Given the description of an element on the screen output the (x, y) to click on. 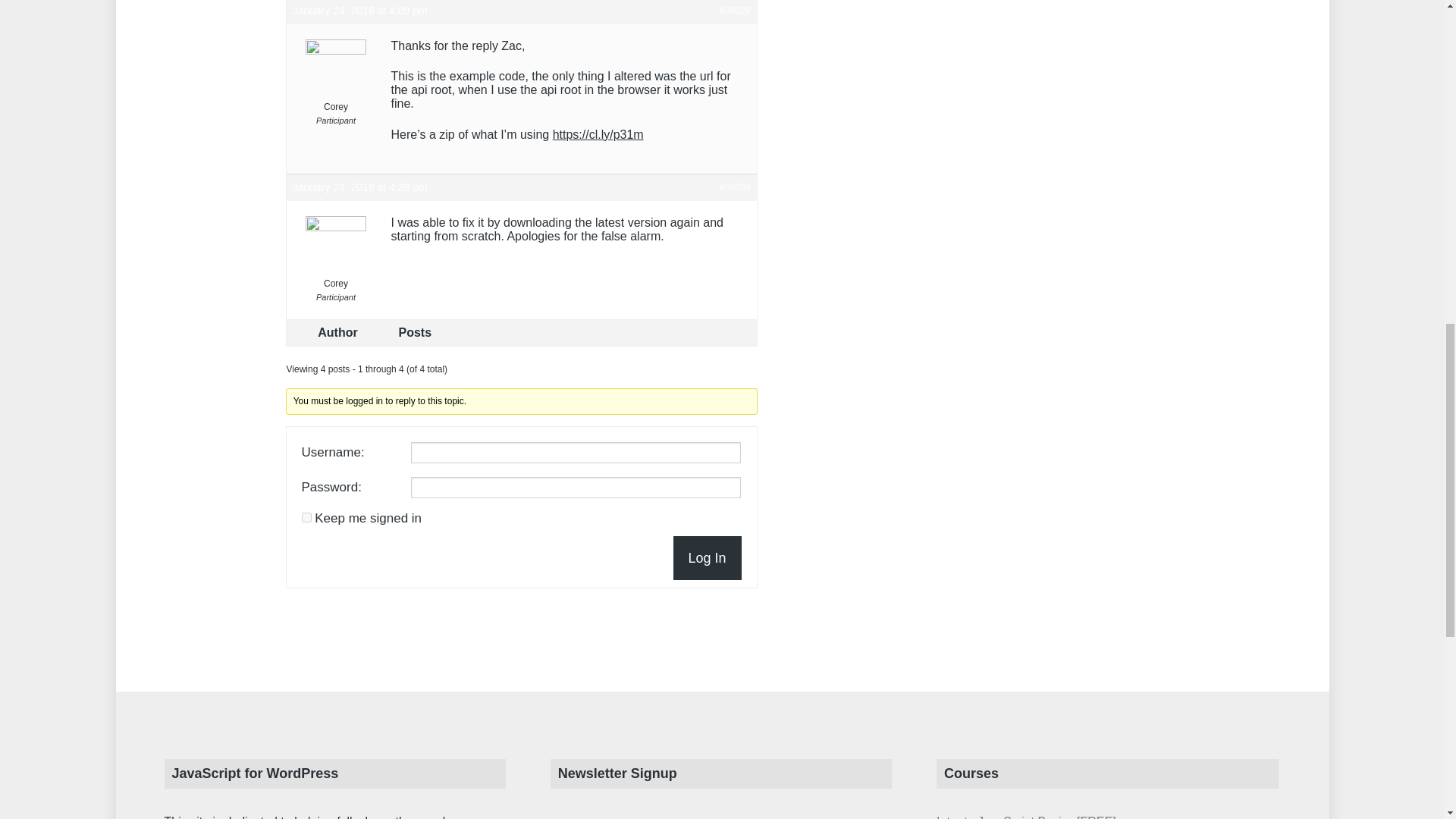
View Corey's profile (336, 256)
View Corey's profile (336, 79)
forever (306, 517)
